Given the description of an element on the screen output the (x, y) to click on. 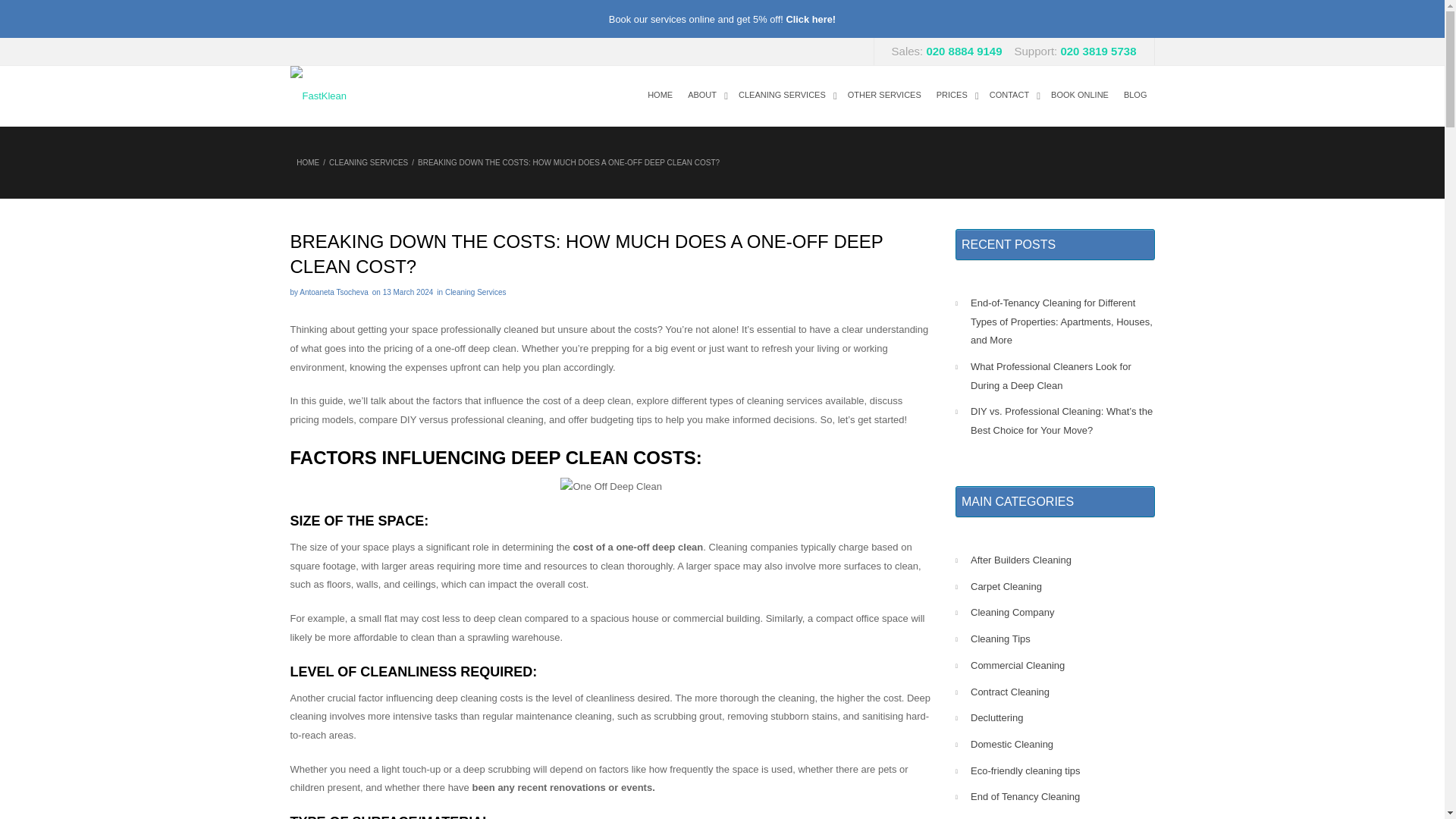
020 8884 9149 (963, 51)
Click here! (810, 19)
CLEANING SERVICES (789, 95)
020 3819 5738 (1097, 51)
OTHER SERVICES (888, 95)
PRICES (960, 95)
